Given the description of an element on the screen output the (x, y) to click on. 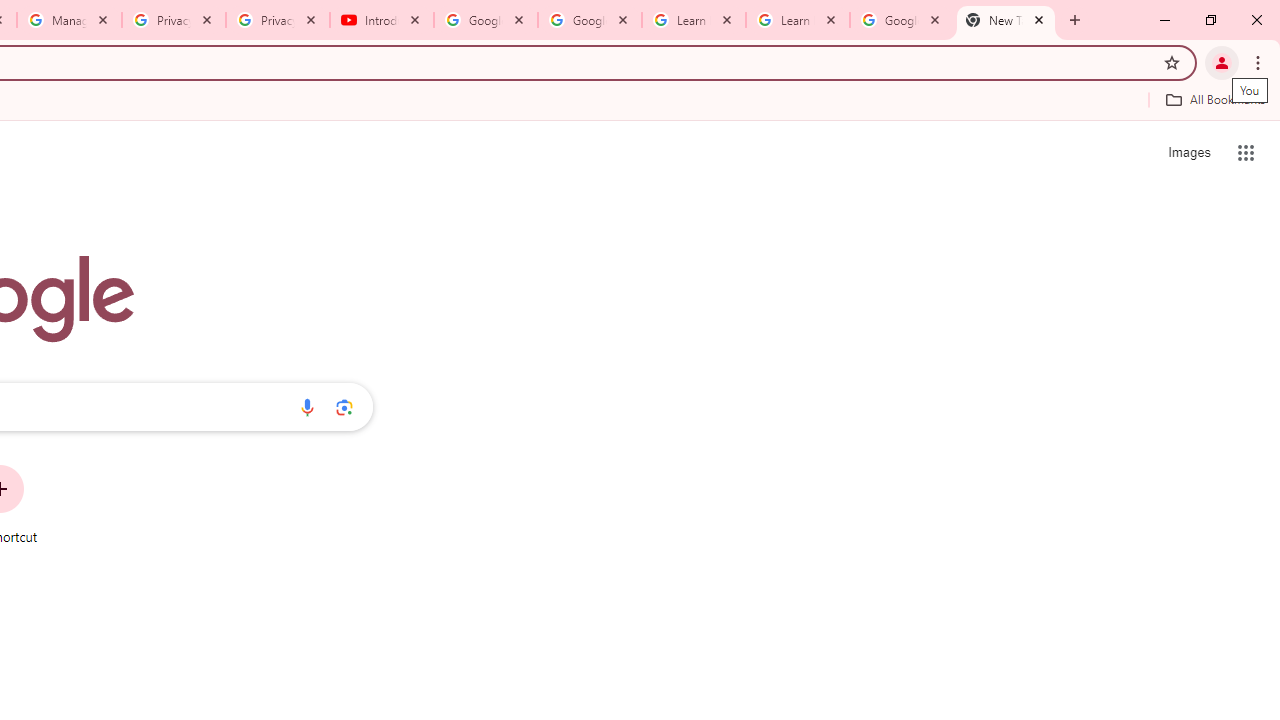
Google Account (901, 20)
New Tab (1005, 20)
Search by image (344, 407)
Search by voice (307, 407)
Google Account Help (589, 20)
Search for Images  (1188, 152)
Introduction | Google Privacy Policy - YouTube (381, 20)
